Given the description of an element on the screen output the (x, y) to click on. 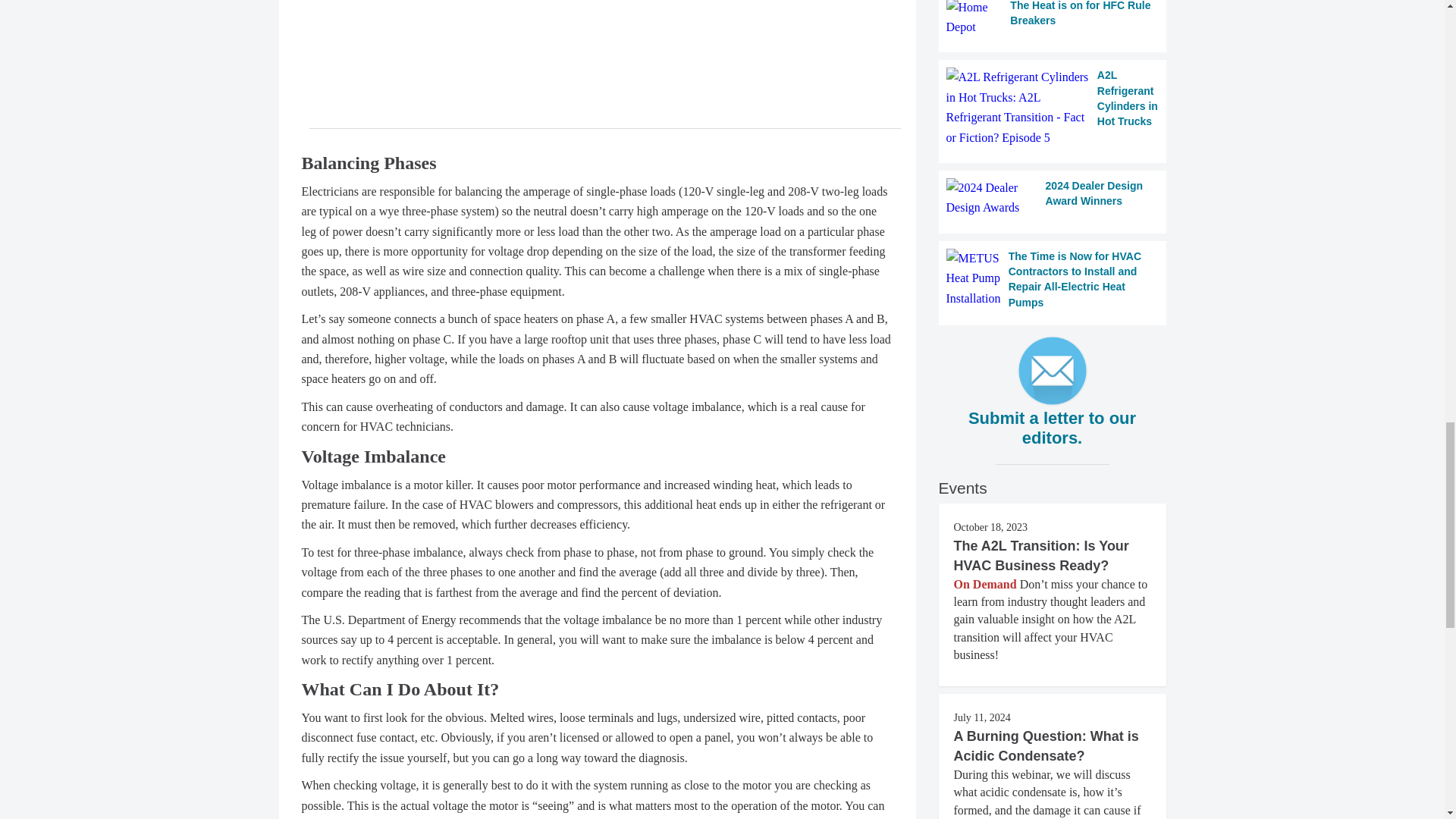
The Heat is on for HFC Rule Breakers (1052, 18)
2024 Dealer Design Award Winners (1052, 198)
A Burning Question: What is Acidic Condensate? (1045, 745)
The A2L Transition: Is Your HVAC Business Ready? (1041, 555)
A2L Refrigerant Cylinders in Hot Trucks (1052, 107)
